Given the description of an element on the screen output the (x, y) to click on. 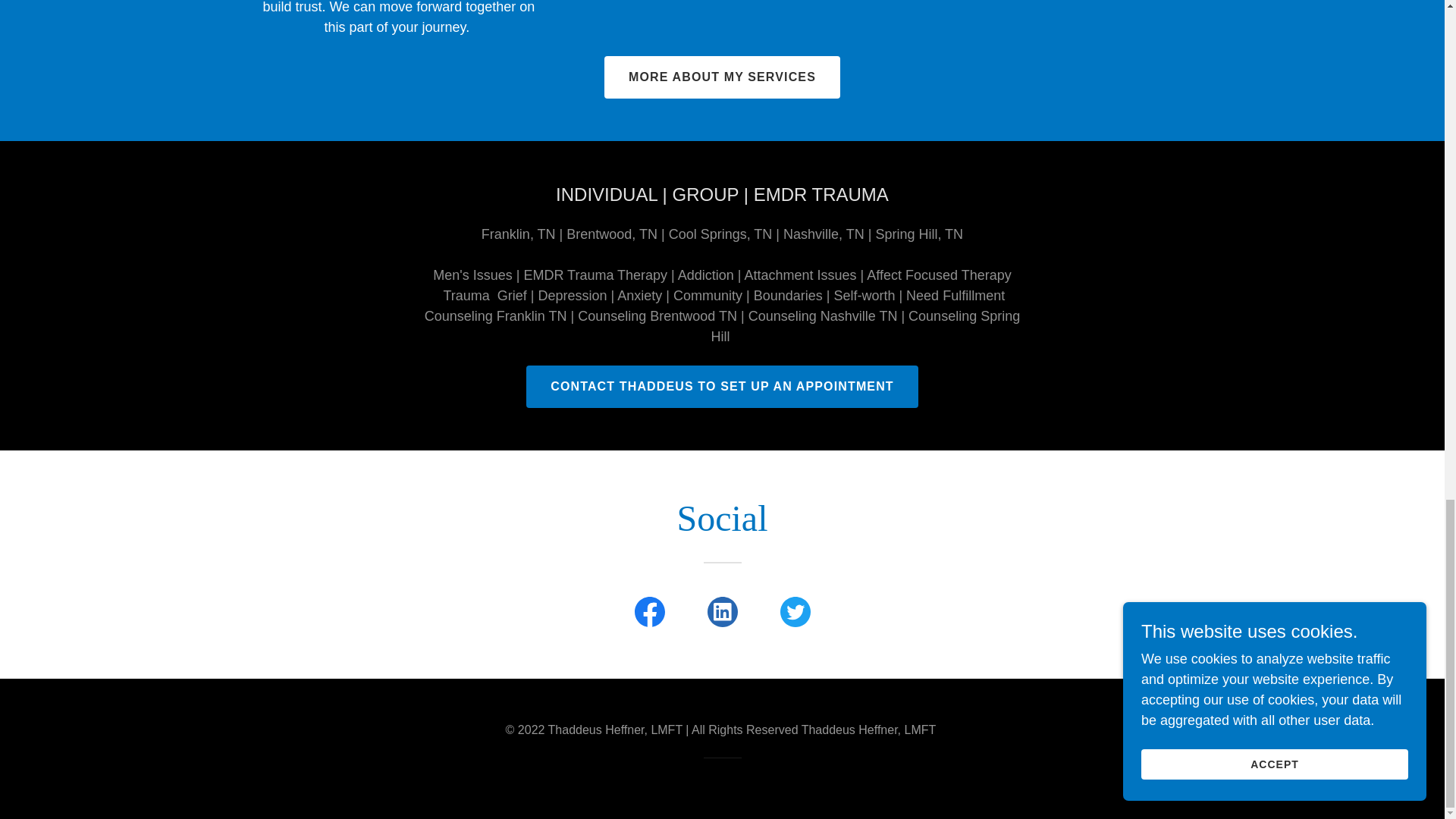
CONTACT THADDEUS TO SET UP AN APPOINTMENT (721, 386)
MORE ABOUT MY SERVICES (722, 77)
